Given the description of an element on the screen output the (x, y) to click on. 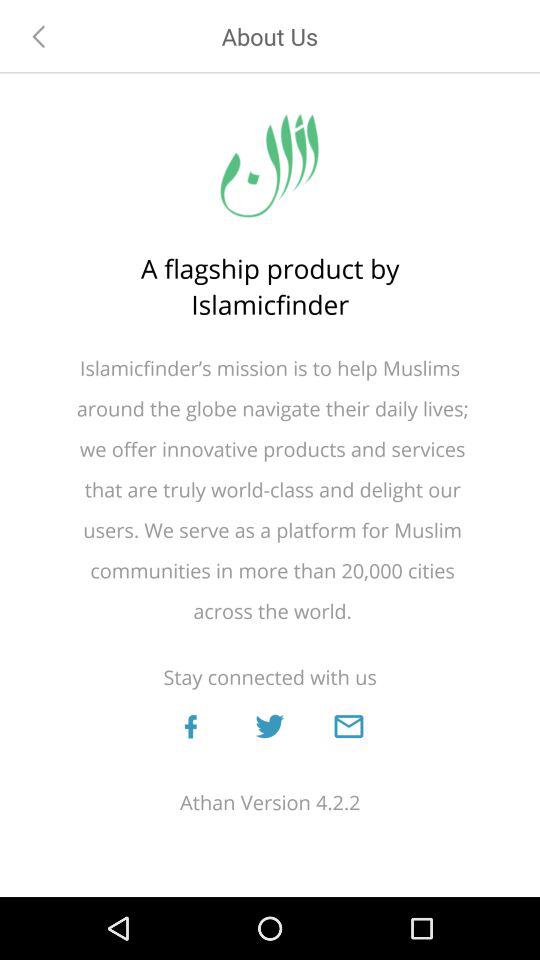
open facebook (190, 726)
